Given the description of an element on the screen output the (x, y) to click on. 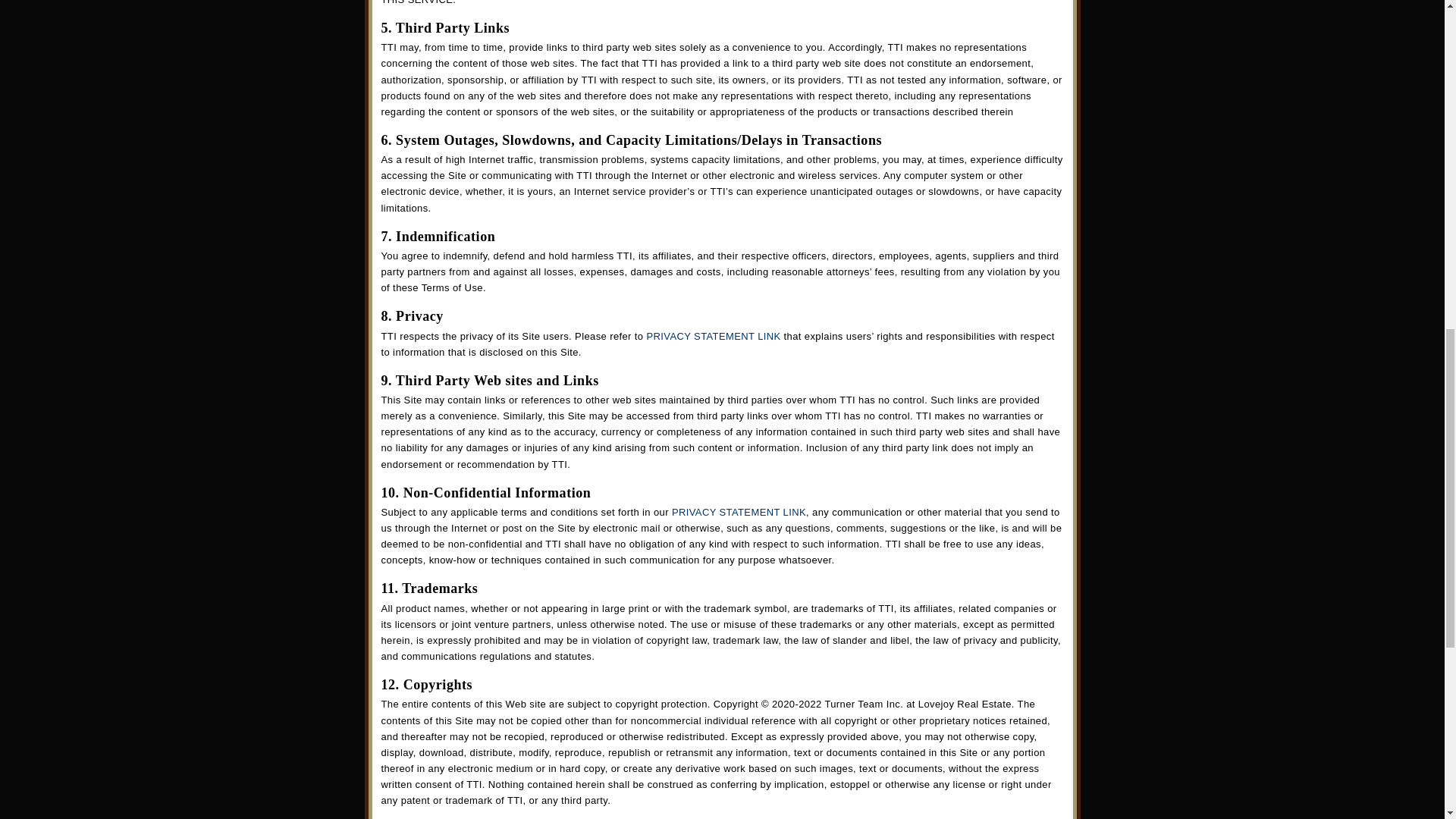
Privacy Statement (713, 336)
PRIVACY STATEMENT LINK (738, 511)
Privacy Statement (738, 511)
PRIVACY STATEMENT LINK (713, 336)
